Given the description of an element on the screen output the (x, y) to click on. 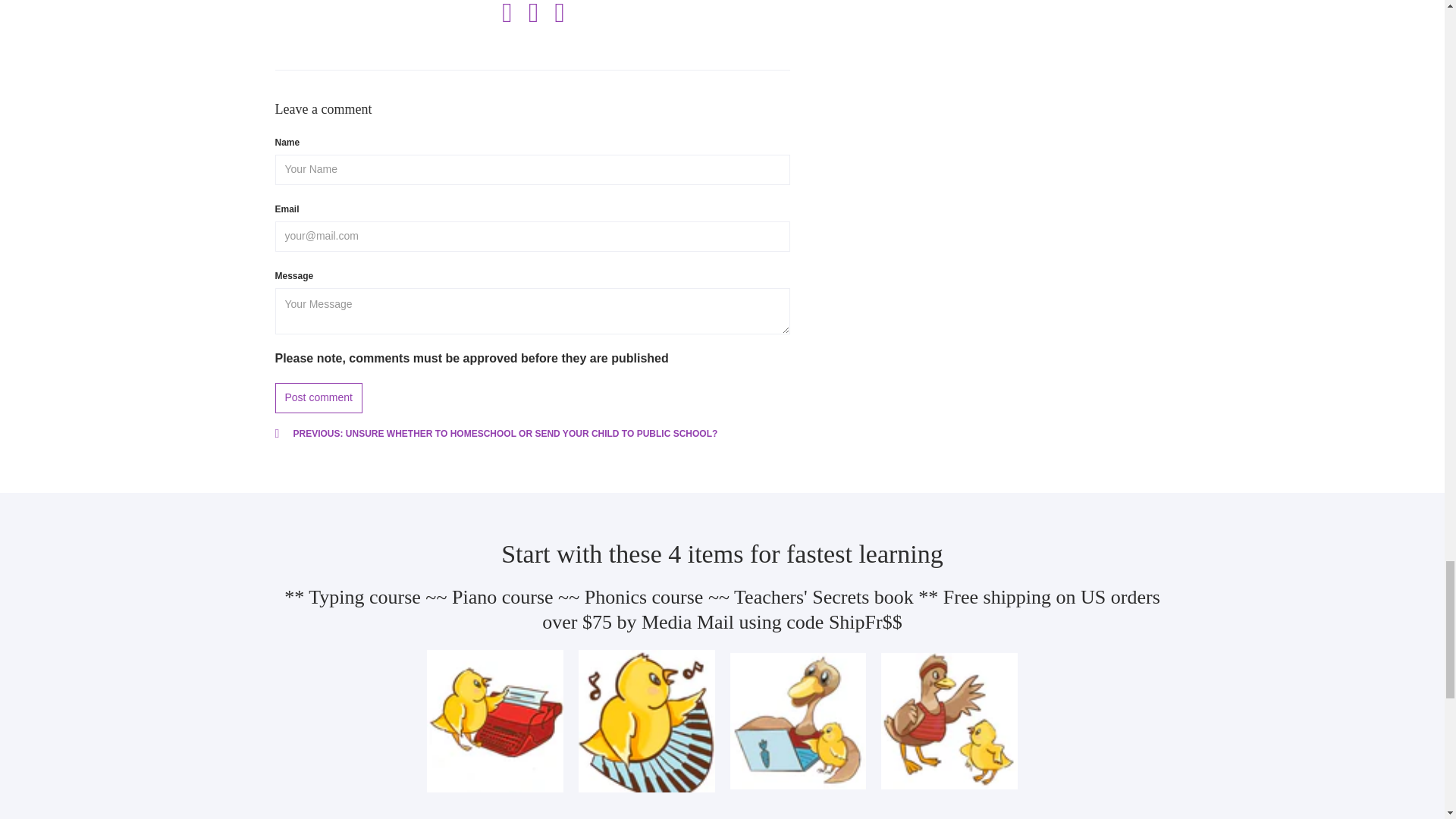
Post comment (318, 397)
